Given the description of an element on the screen output the (x, y) to click on. 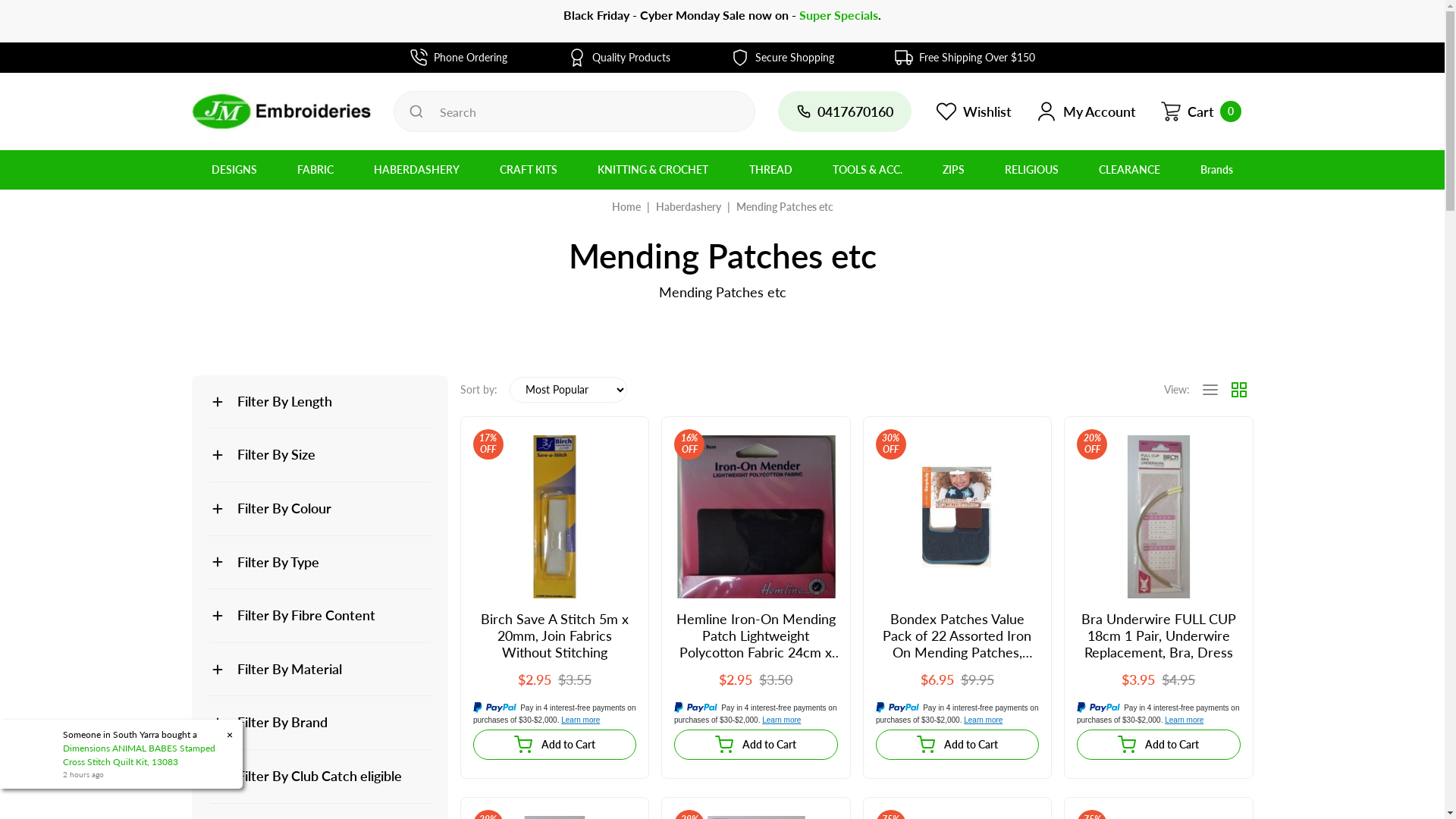
FABRIC Element type: text (315, 169)
Add to Cart Element type: text (755, 744)
Haberdashery Element type: text (687, 206)
THREAD Element type: text (770, 169)
TOOLS & ACC. Element type: text (867, 169)
CLEARANCE Element type: text (1128, 169)
Home Element type: text (625, 206)
DESIGNS Element type: text (233, 169)
CRAFT KITS Element type: text (528, 169)
KNITTING & CROCHET Element type: text (652, 169)
Brands Element type: text (1215, 169)
PayPal Message 22 Element type: hover (755, 713)
PayPal Message 23 Element type: hover (956, 713)
PayPal Message 24 Element type: hover (1158, 713)
Wishlist Element type: text (973, 111)
My Account Element type: text (1085, 111)
0417670160 Element type: text (844, 111)
Super Specials Element type: text (838, 14)
Mending Patches etc Element type: text (783, 206)
Search Element type: text (416, 111)
Add to Cart Element type: text (555, 744)
HABERDASHERY Element type: text (417, 169)
RELIGIOUS Element type: text (1031, 169)
Add to Cart Element type: text (1158, 744)
ZIPS Element type: text (953, 169)
Add to Cart Element type: text (956, 744)
PayPal Message 21 Element type: hover (555, 713)
Puttock International Pty Ltd  T/A  JM Embroideries Element type: hover (280, 111)
Cart
0 Element type: text (1200, 111)
